Given the description of an element on the screen output the (x, y) to click on. 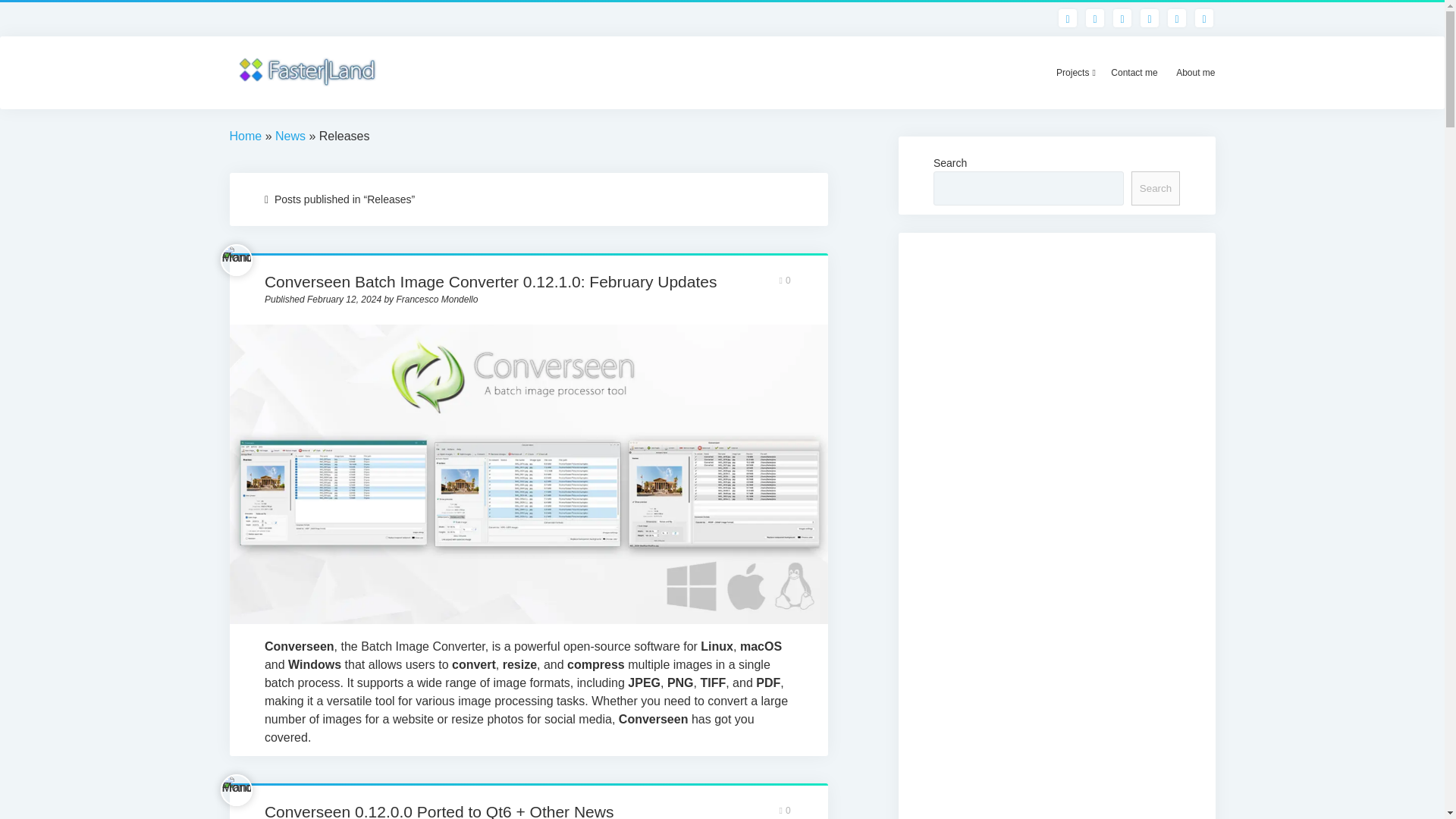
Projects (1074, 72)
About me (1195, 72)
Home (245, 135)
Contact me (1134, 72)
Converseen Batch Image Converter 0.12.1.0: February Updates (490, 281)
News (290, 135)
